Given the description of an element on the screen output the (x, y) to click on. 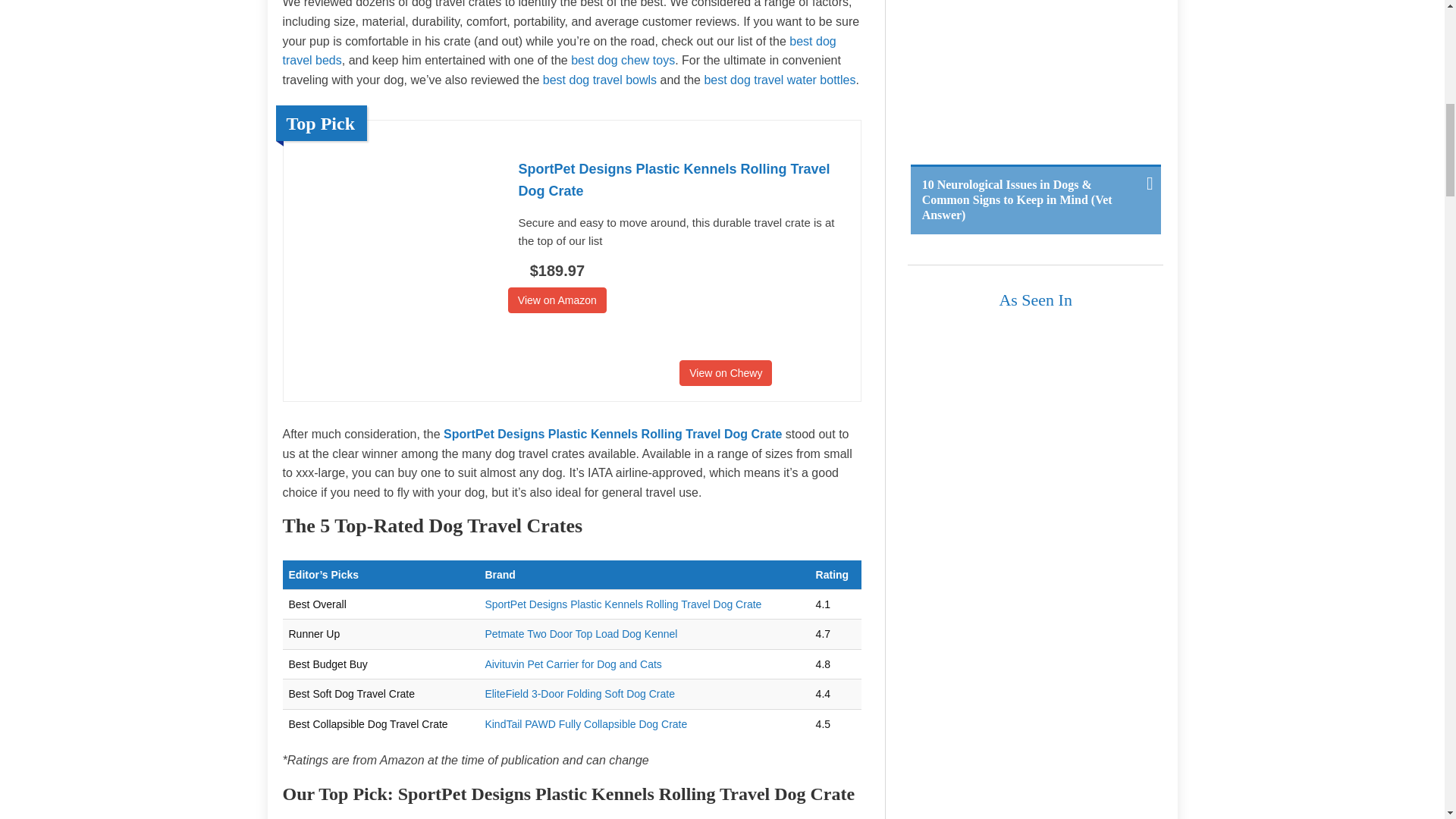
Aivituvin Pet Carrier for Dog and Cats (572, 664)
Petmate Two Door Top Load Dog Kennel (580, 633)
best dog chew toys (622, 60)
SportPet Designs Plastic Kennels Rolling Travel Dog Crate (681, 180)
SportPet Designs Plastic Kennels Rolling Travel Dog Crate (681, 180)
best dog travel bowls (599, 79)
SportPet Designs Plastic Kennels Rolling Travel Dog Crate (612, 433)
View on Chewy (725, 372)
SportPet Designs Plastic Kennels Rolling Travel Dog Crate (622, 604)
View on Amazon (557, 299)
KindTail PAWD Fully Collapsible Dog Crate (585, 724)
View on Chewy (725, 372)
best dog travel beds (558, 51)
best dog travel water bottles (779, 79)
View on Amazon (557, 299)
